Given the description of an element on the screen output the (x, y) to click on. 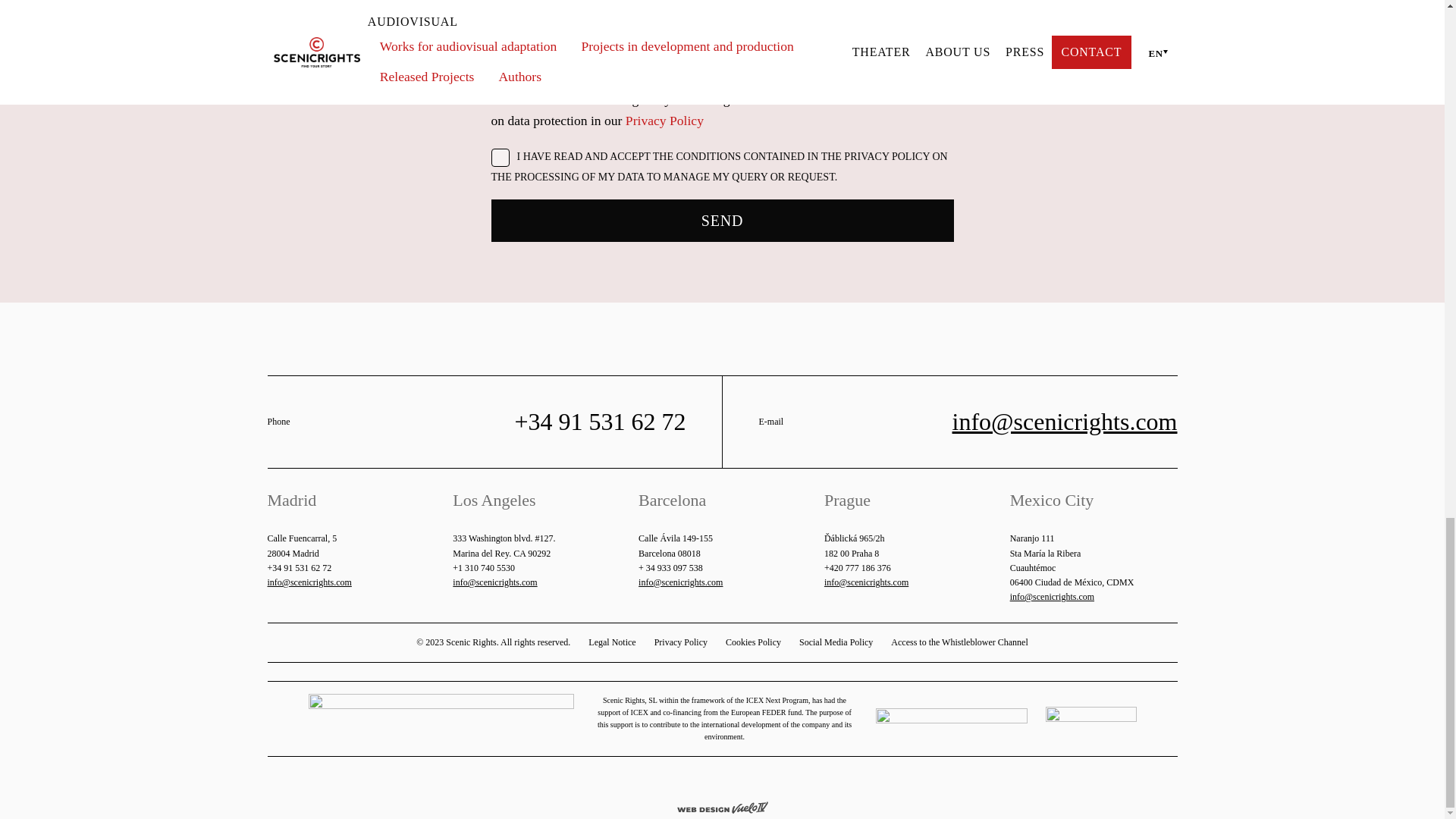
Access to the Whistleblower Channel (959, 642)
Social Media Policy (835, 642)
Privacy Policy (680, 642)
Legal Notice (611, 642)
Privacy Policy (664, 120)
Web Design Barcelona (722, 805)
Send (722, 220)
Cookies Policy (752, 642)
Send (722, 220)
